Given the description of an element on the screen output the (x, y) to click on. 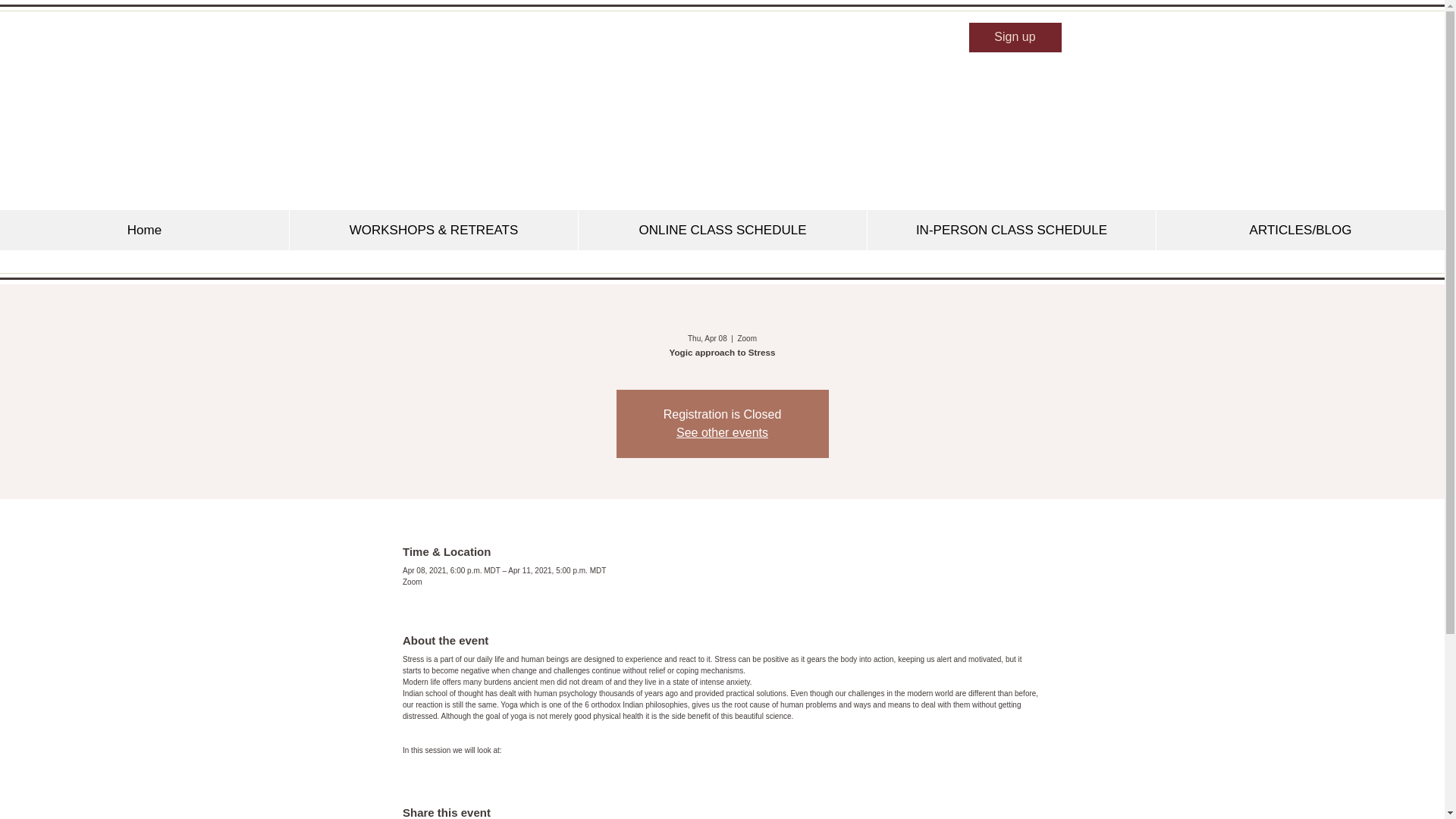
IN-PERSON CLASS SCHEDULE (1011, 229)
ONLINE CLASS SCHEDULE (722, 229)
Sign up (1015, 37)
See other events (722, 431)
Home (144, 229)
